Given the description of an element on the screen output the (x, y) to click on. 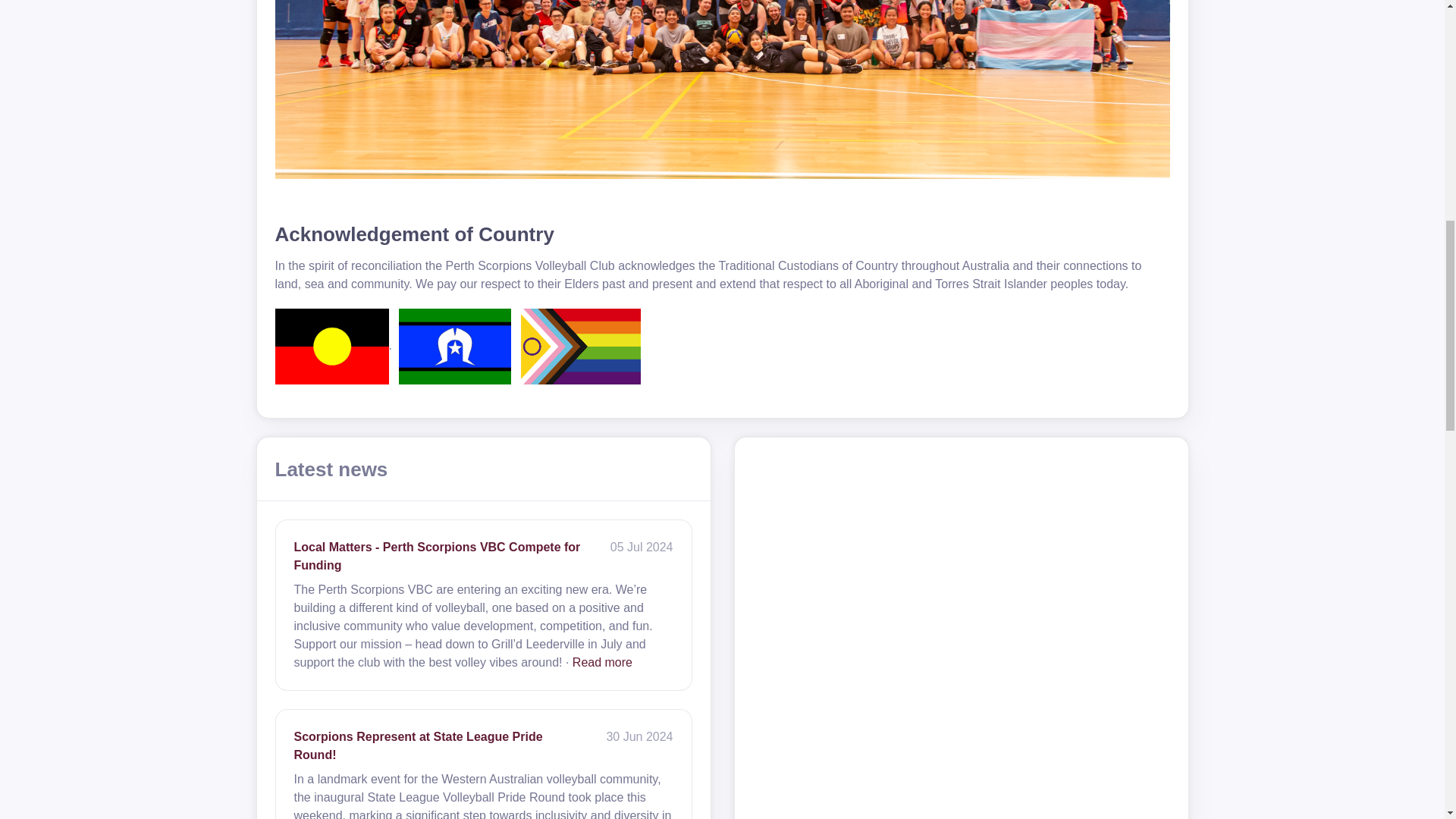
Read more (601, 662)
Scorpions Represent at State League Pride Round! (418, 745)
Local Matters - Perth Scorpions VBC Compete for Funding (437, 555)
Latest news (331, 470)
